Given the description of an element on the screen output the (x, y) to click on. 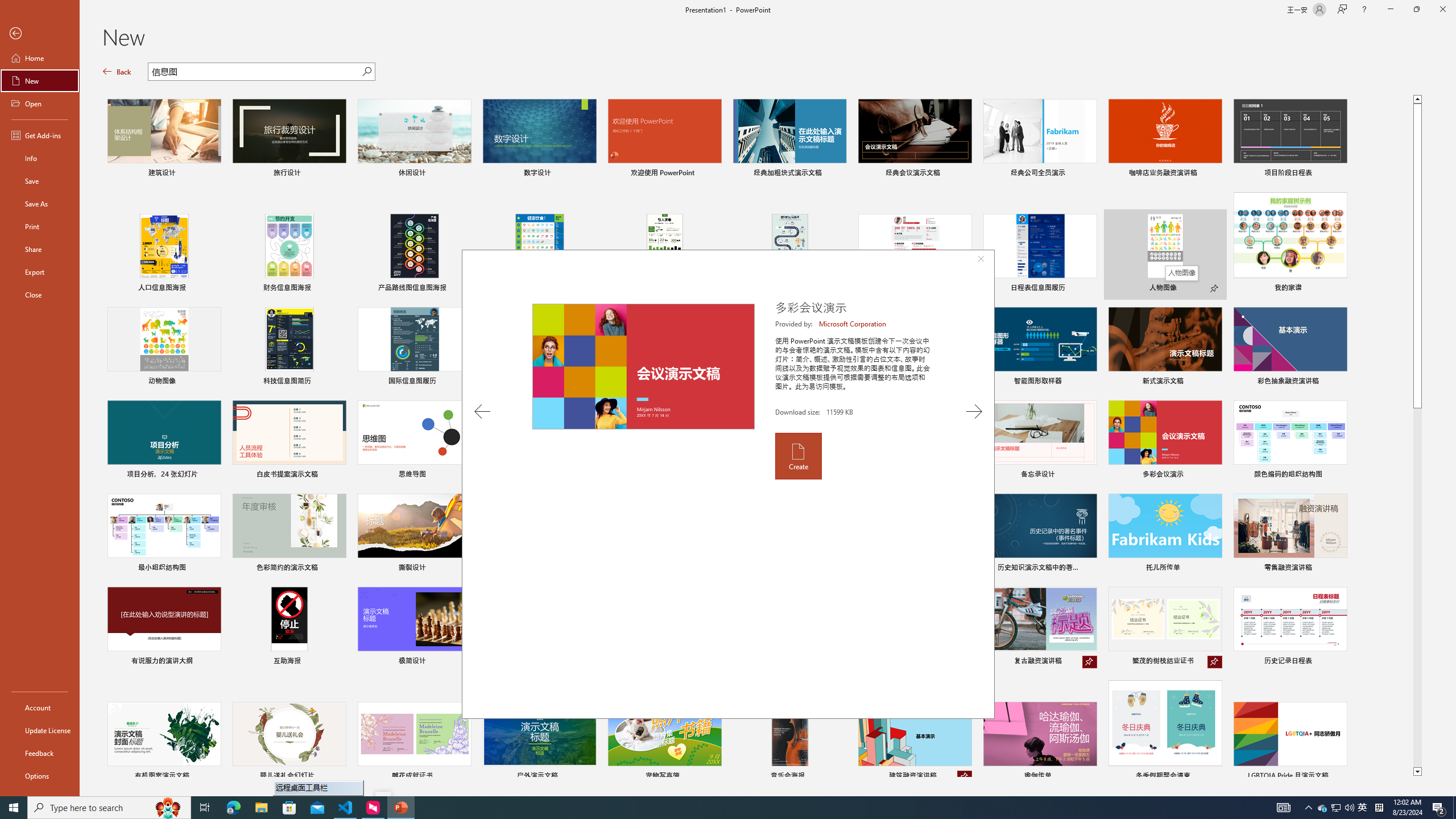
Microsoft Corporation (853, 323)
Back (40, 33)
Options (40, 775)
Next Template (974, 411)
